Given the description of an element on the screen output the (x, y) to click on. 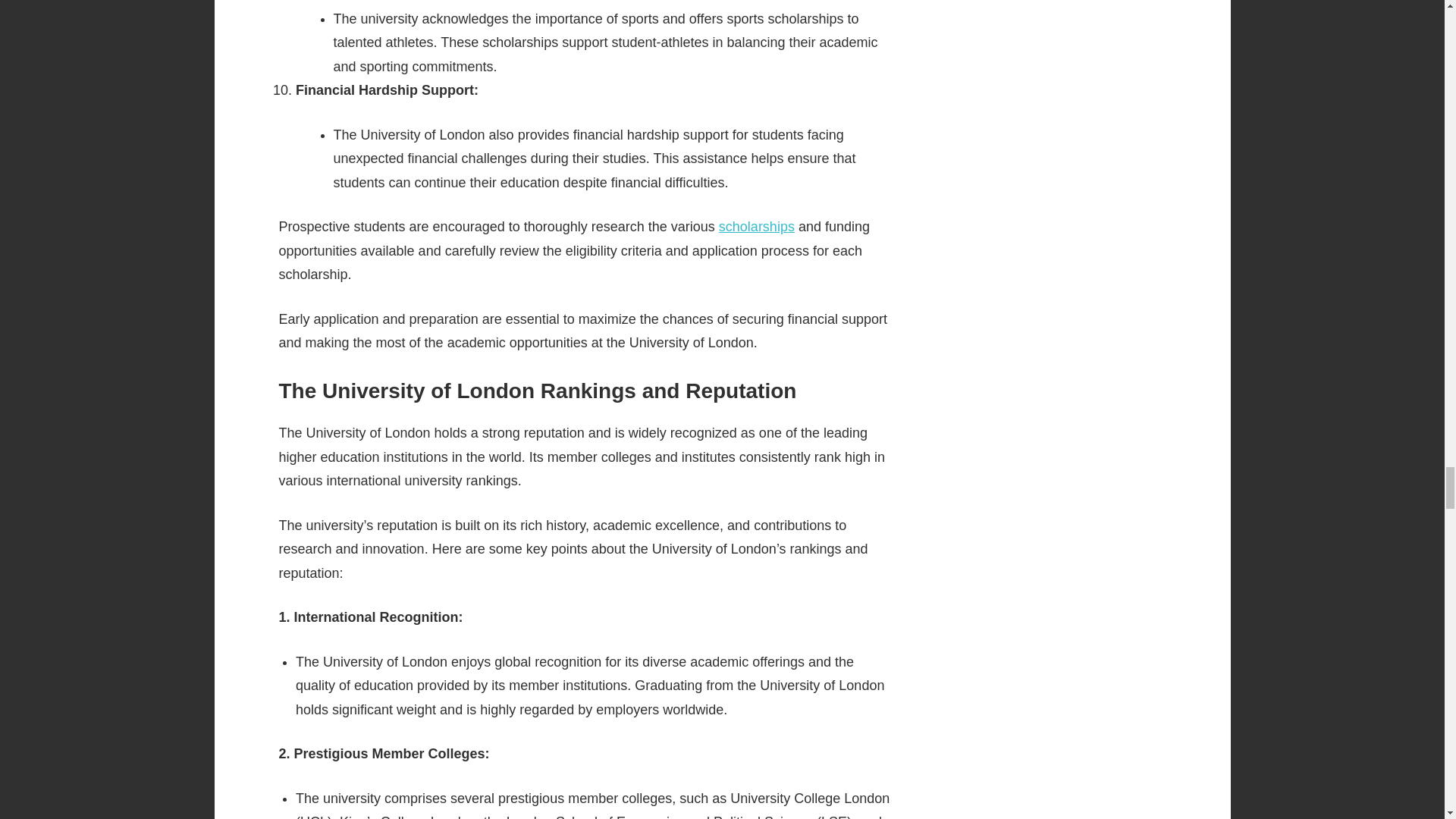
scholarships (756, 226)
